Given the description of an element on the screen output the (x, y) to click on. 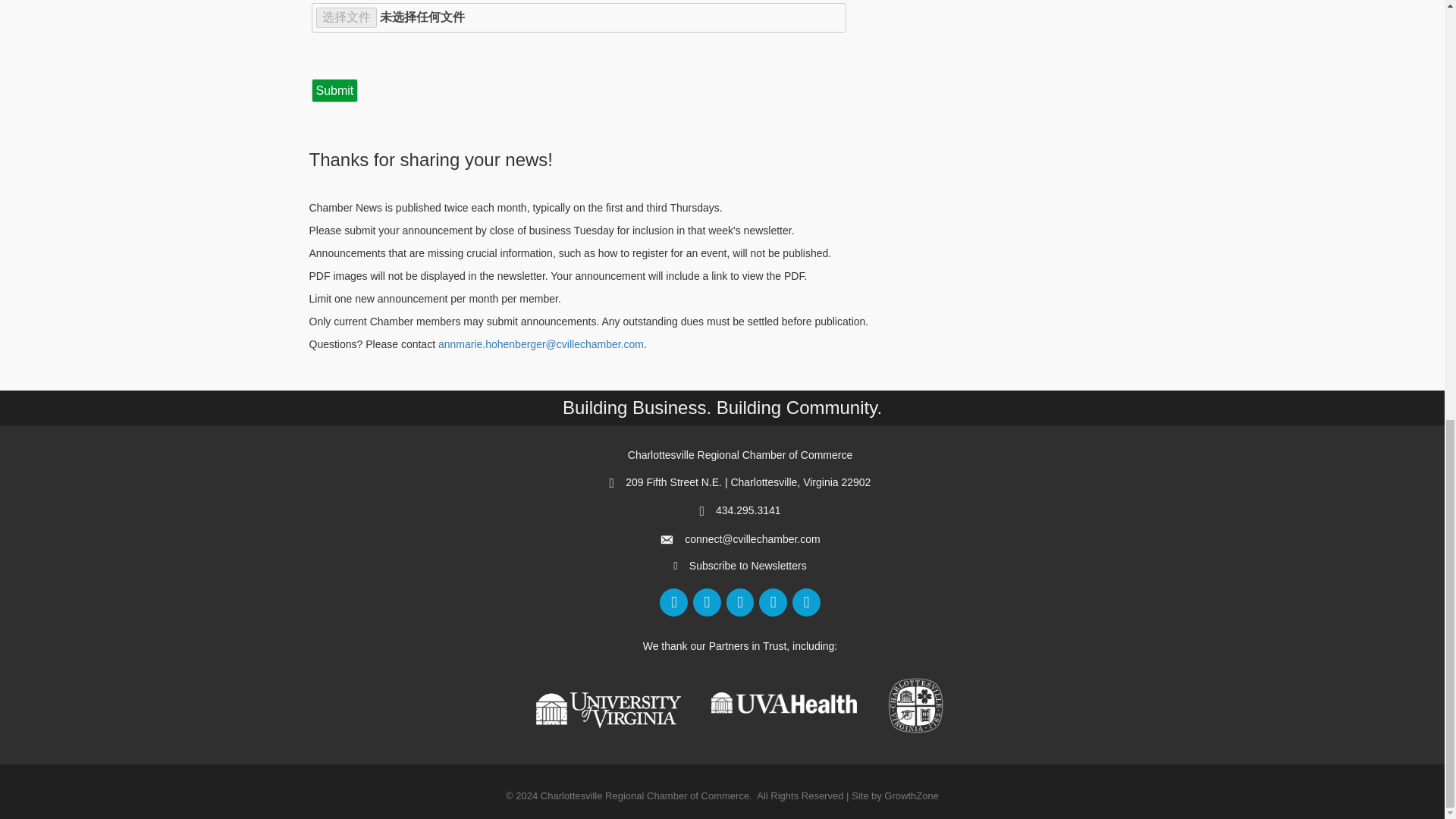
Submit (334, 90)
UVA Health (784, 702)
CitySealWhite (915, 704)
University of Virginia (608, 709)
